Given the description of an element on the screen output the (x, y) to click on. 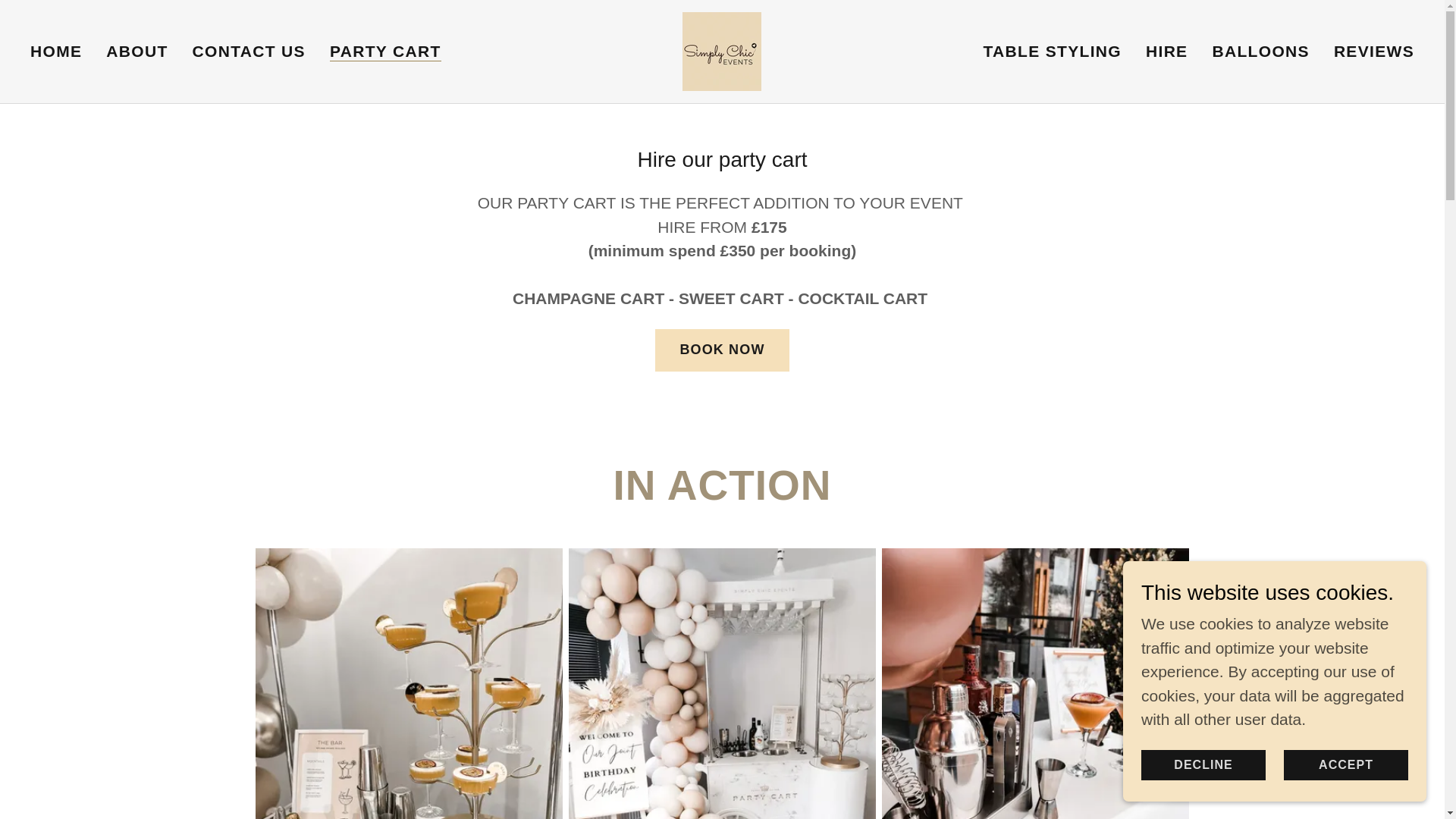
BOOK NOW (722, 350)
BALLOONS (1260, 51)
Simply Chic Events (721, 49)
CONTACT US (248, 51)
PARTY CART (385, 51)
DECLINE (1203, 764)
HOME (55, 51)
ABOUT (136, 51)
REVIEWS (1373, 51)
TABLE STYLING (1051, 51)
